Given the description of an element on the screen output the (x, y) to click on. 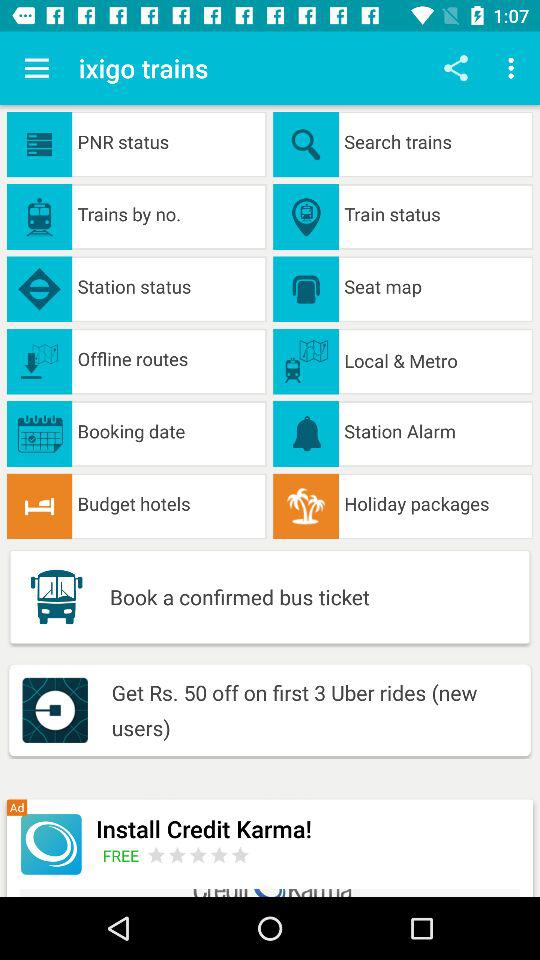
open advertisement (197, 854)
